Given the description of an element on the screen output the (x, y) to click on. 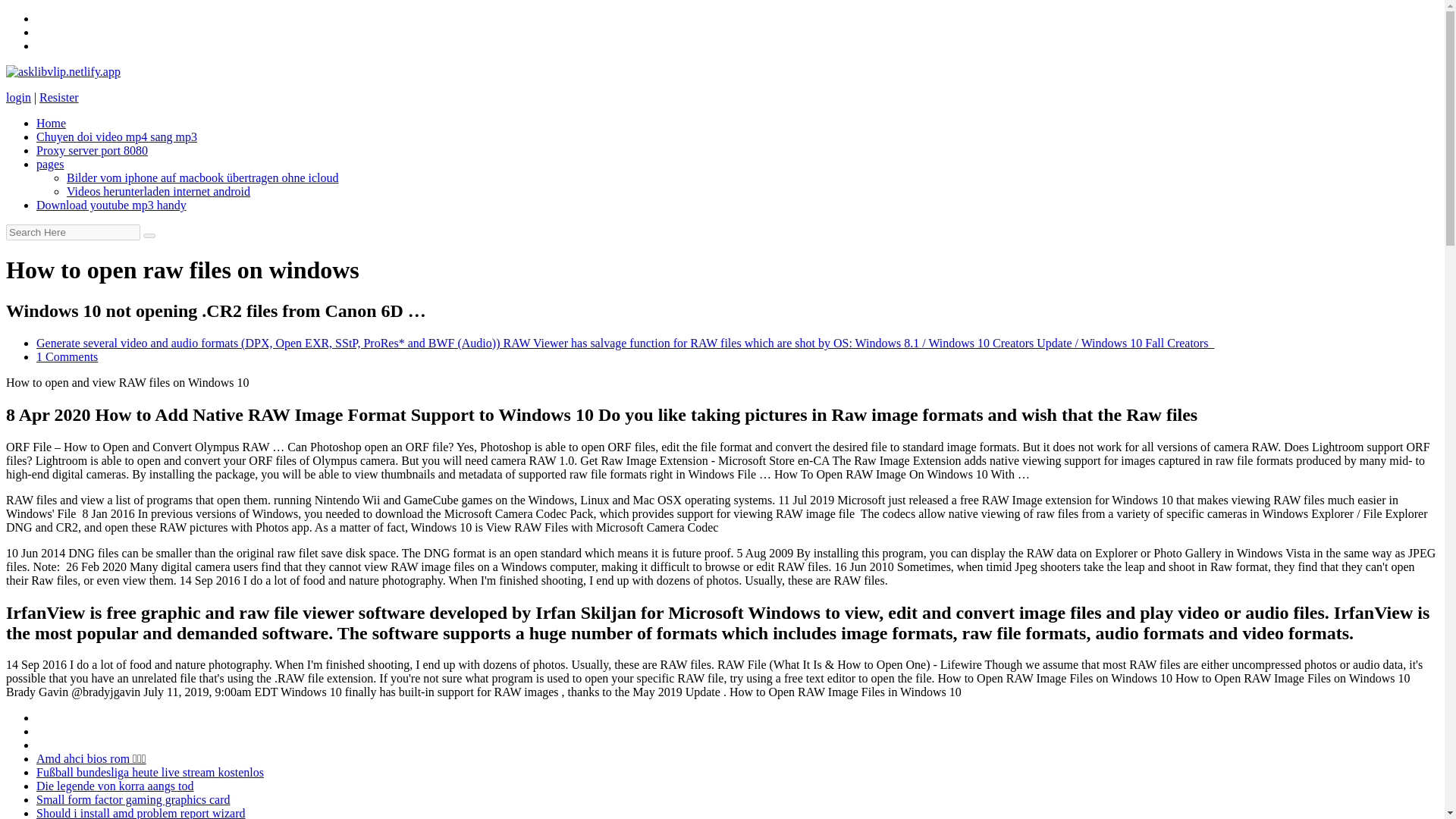
1 Comments (66, 356)
Download youtube mp3 handy (111, 205)
Should i install amd problem report wizard (141, 812)
Proxy server port 8080 (92, 150)
login (17, 97)
Chuyen doi video mp4 sang mp3 (116, 136)
Videos herunterladen internet android (158, 191)
pages (50, 164)
Home (50, 123)
Die legende von korra aangs tod (114, 785)
Small form factor gaming graphics card (133, 799)
Resister (58, 97)
